Given the description of an element on the screen output the (x, y) to click on. 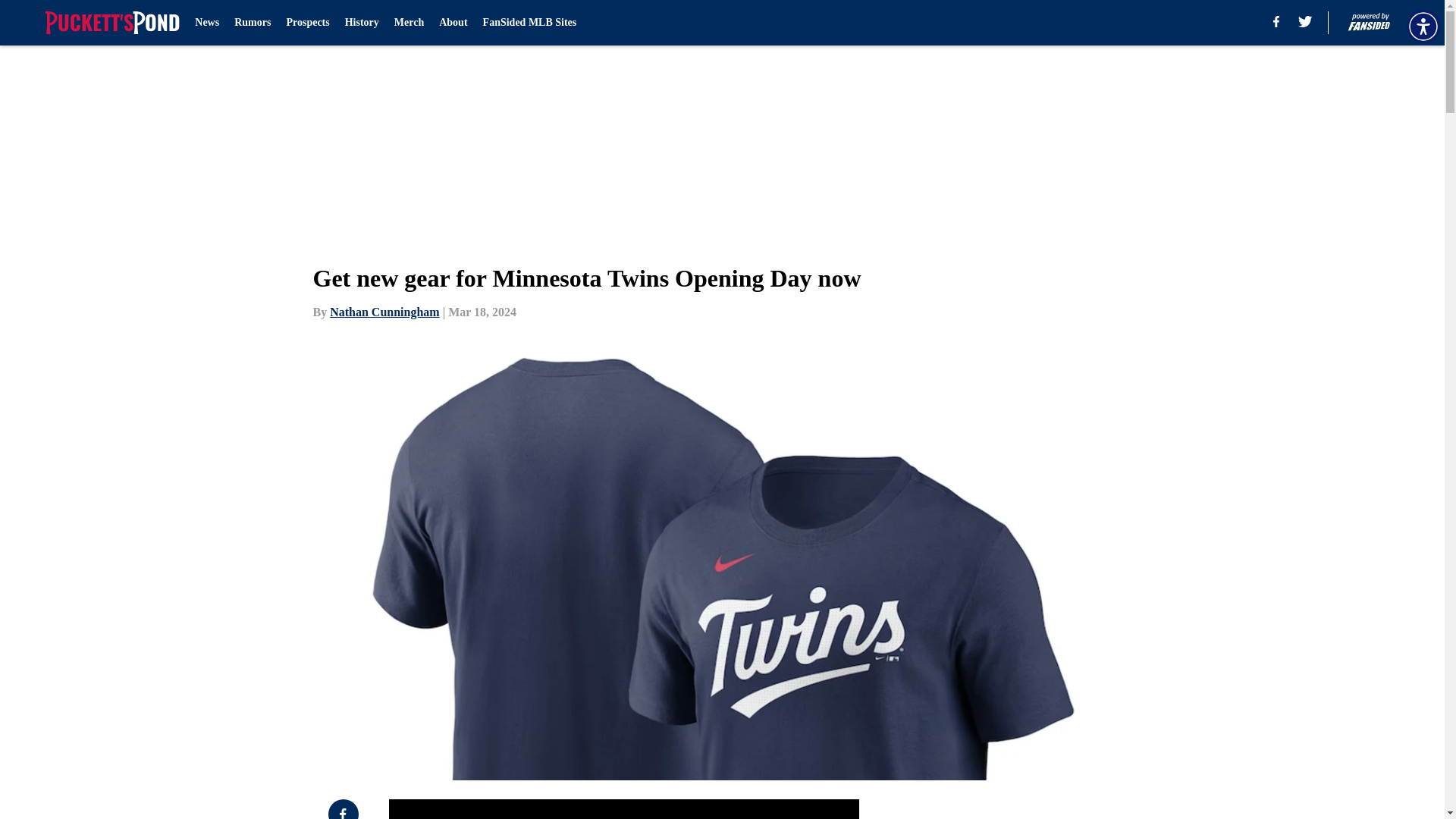
About (453, 22)
News (207, 22)
Rumors (252, 22)
Merch (408, 22)
Accessibility Menu (1422, 26)
History (361, 22)
3rd party ad content (1047, 809)
FanSided MLB Sites (529, 22)
Nathan Cunningham (384, 311)
Prospects (307, 22)
